Given the description of an element on the screen output the (x, y) to click on. 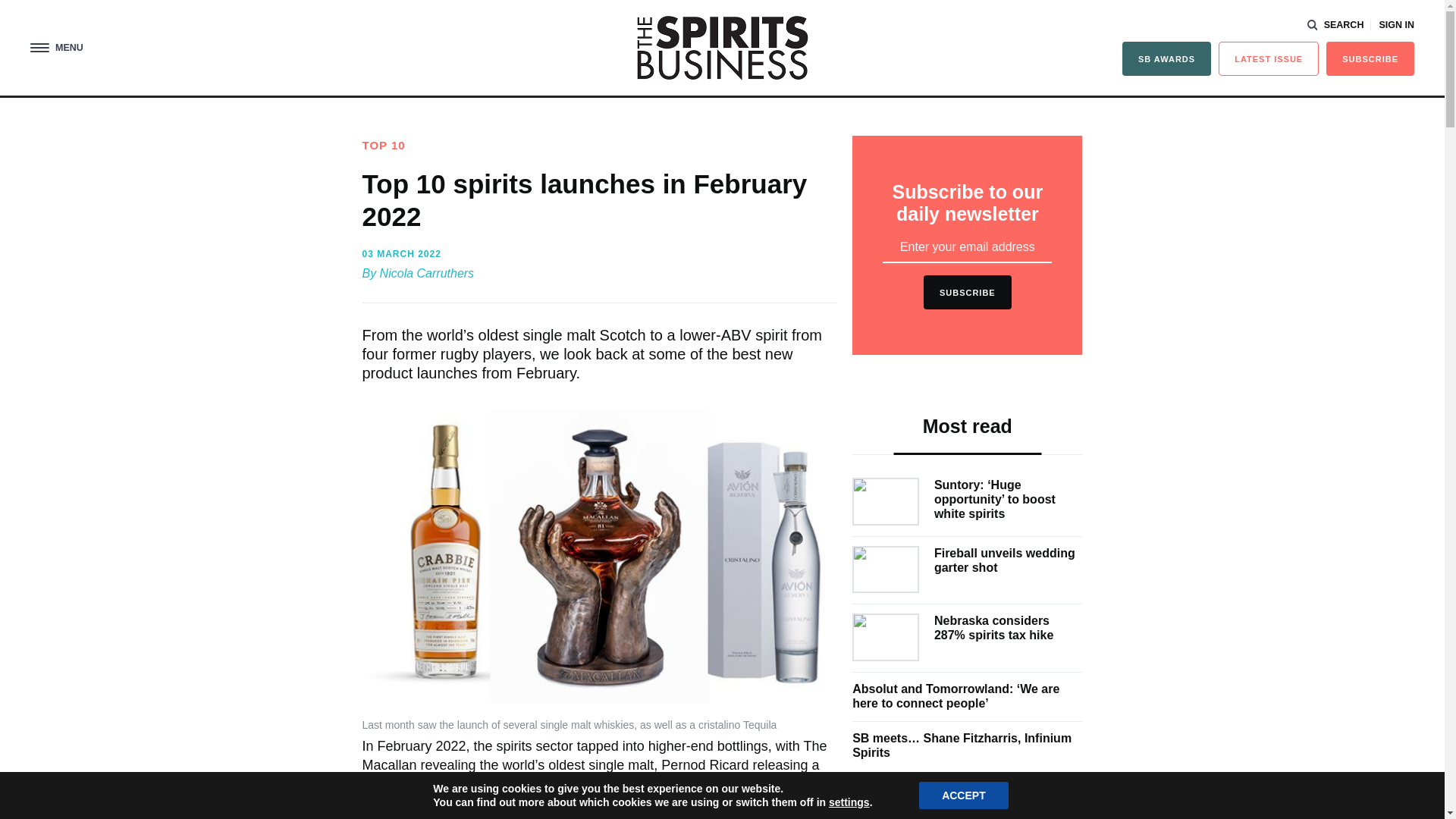
LATEST ISSUE (1268, 58)
SUBSCRIBE (1369, 58)
The Spirits Business (722, 47)
SB AWARDS (1166, 58)
SIGN IN (1395, 25)
